Given the description of an element on the screen output the (x, y) to click on. 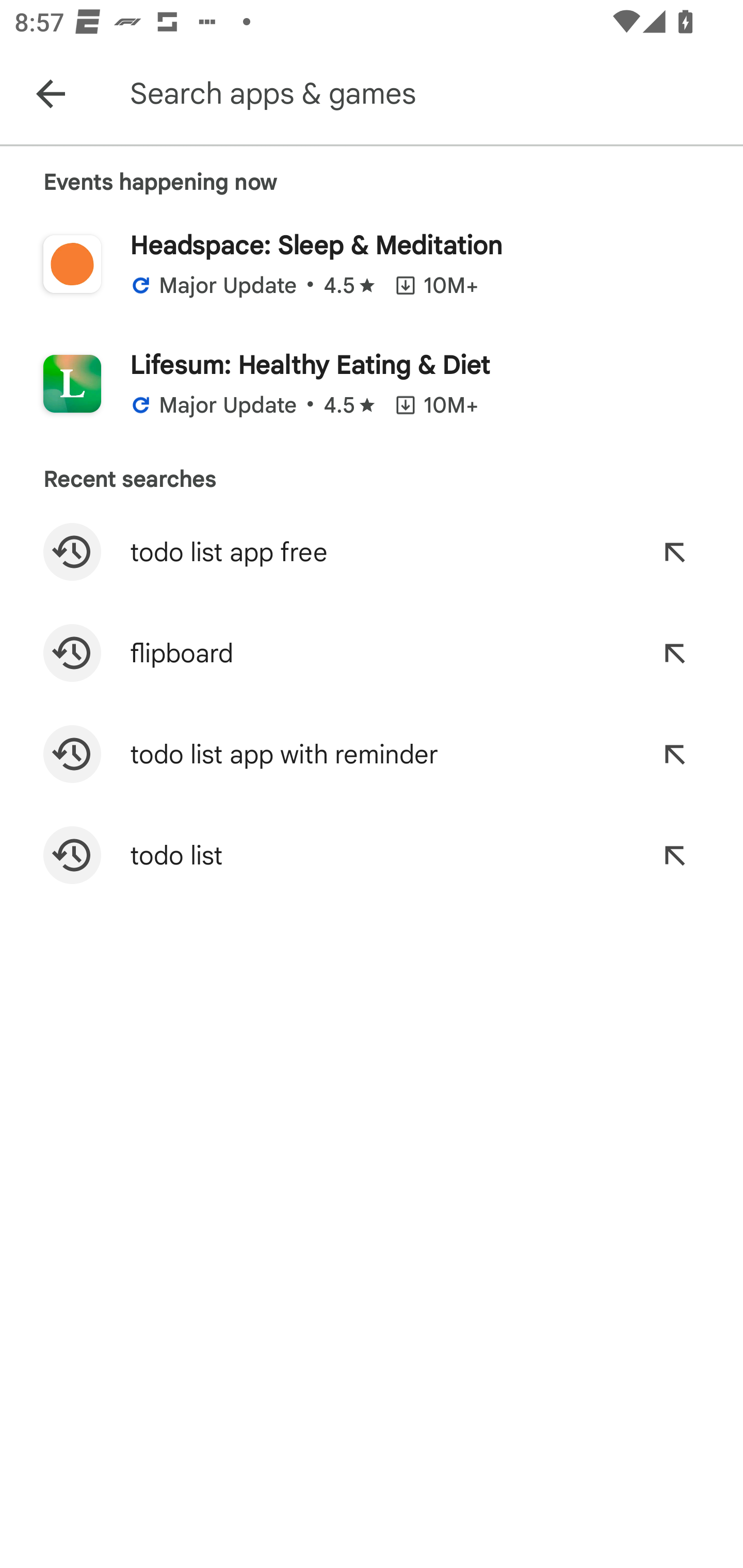
Navigate up (50, 93)
Search apps & games (432, 93)
Refine search to "todo list app free" (673, 551)
Refine search to "flipboard" (673, 653)
Refine search to "todo list app with reminder" (673, 754)
Refine search to "todo list" (673, 855)
